Given the description of an element on the screen output the (x, y) to click on. 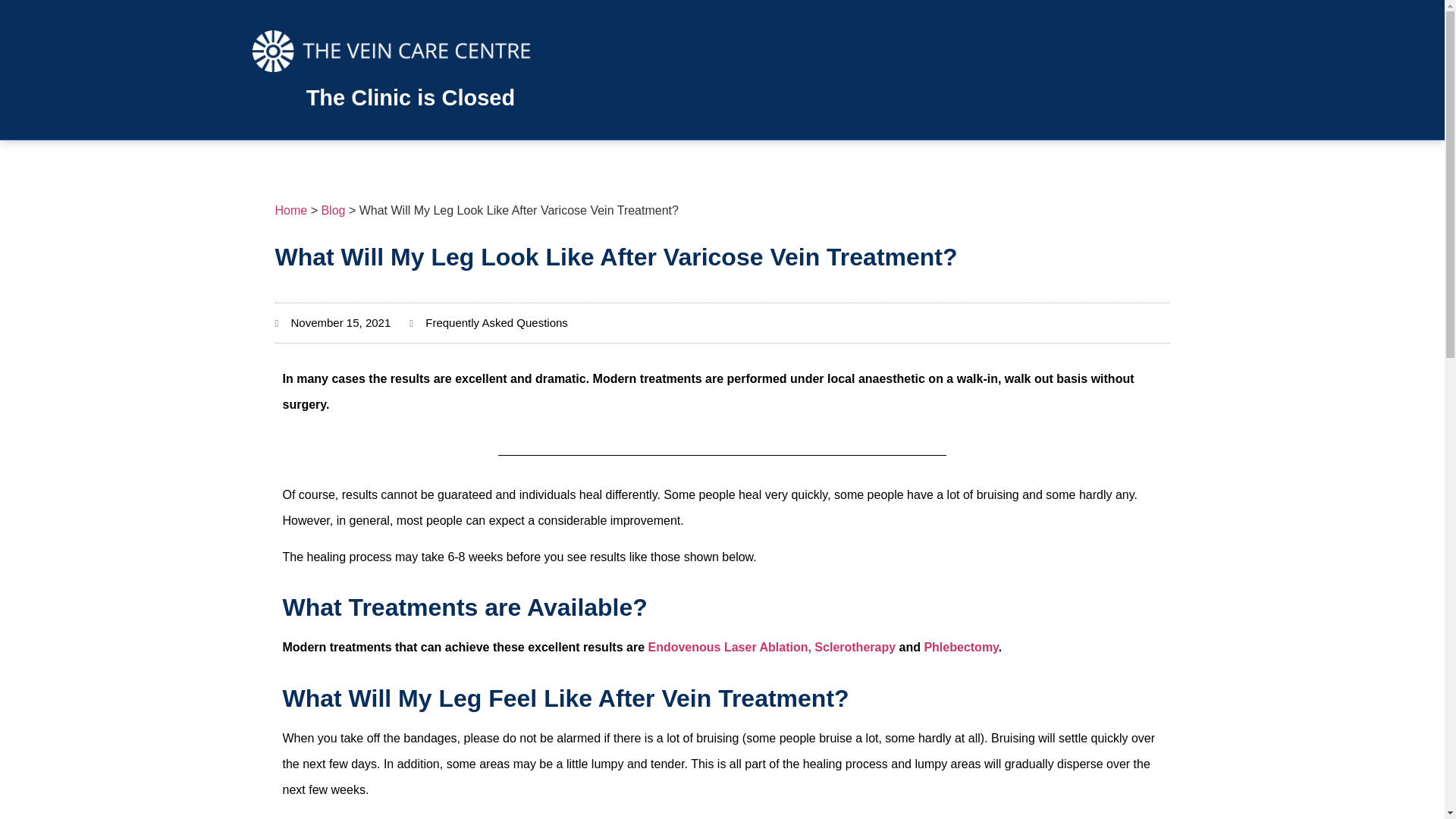
Go to Home (291, 210)
Sclerotherapy (854, 646)
Endovenous Laser Ablation, (730, 646)
Home (291, 210)
Frequently Asked Questions (496, 322)
Blog (332, 210)
November 15, 2021 (332, 323)
Go to Blog. (332, 210)
Phlebectomy (960, 646)
